Given the description of an element on the screen output the (x, y) to click on. 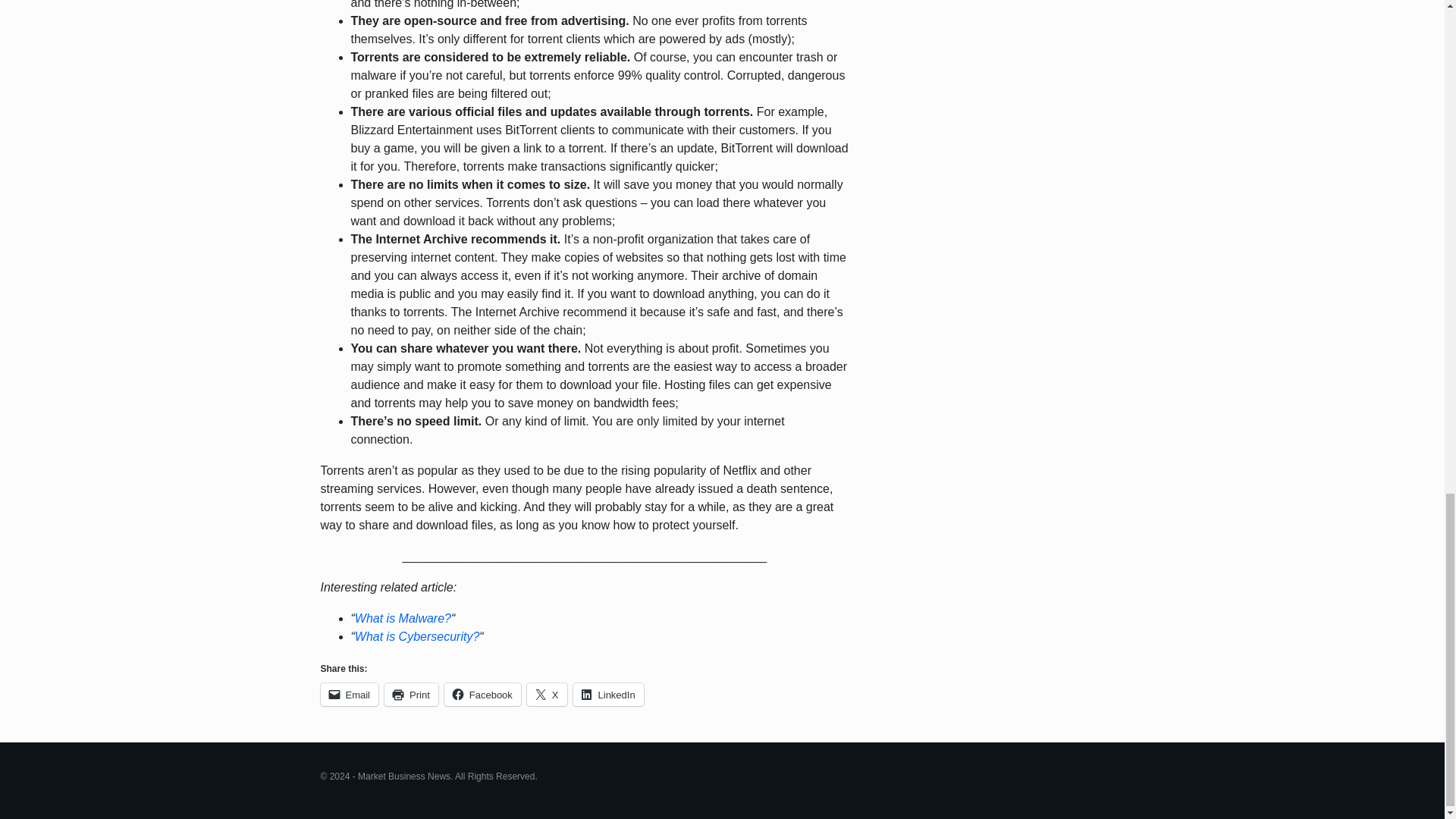
Click to share on X (547, 694)
Click to print (411, 694)
Facebook (482, 694)
What is Malware? (403, 617)
Print (411, 694)
Click to email a link to a friend (349, 694)
What is Cybersecurity? (417, 635)
Click to share on LinkedIn (608, 694)
Click to share on Facebook (482, 694)
Email (349, 694)
X (547, 694)
LinkedIn (608, 694)
